Given the description of an element on the screen output the (x, y) to click on. 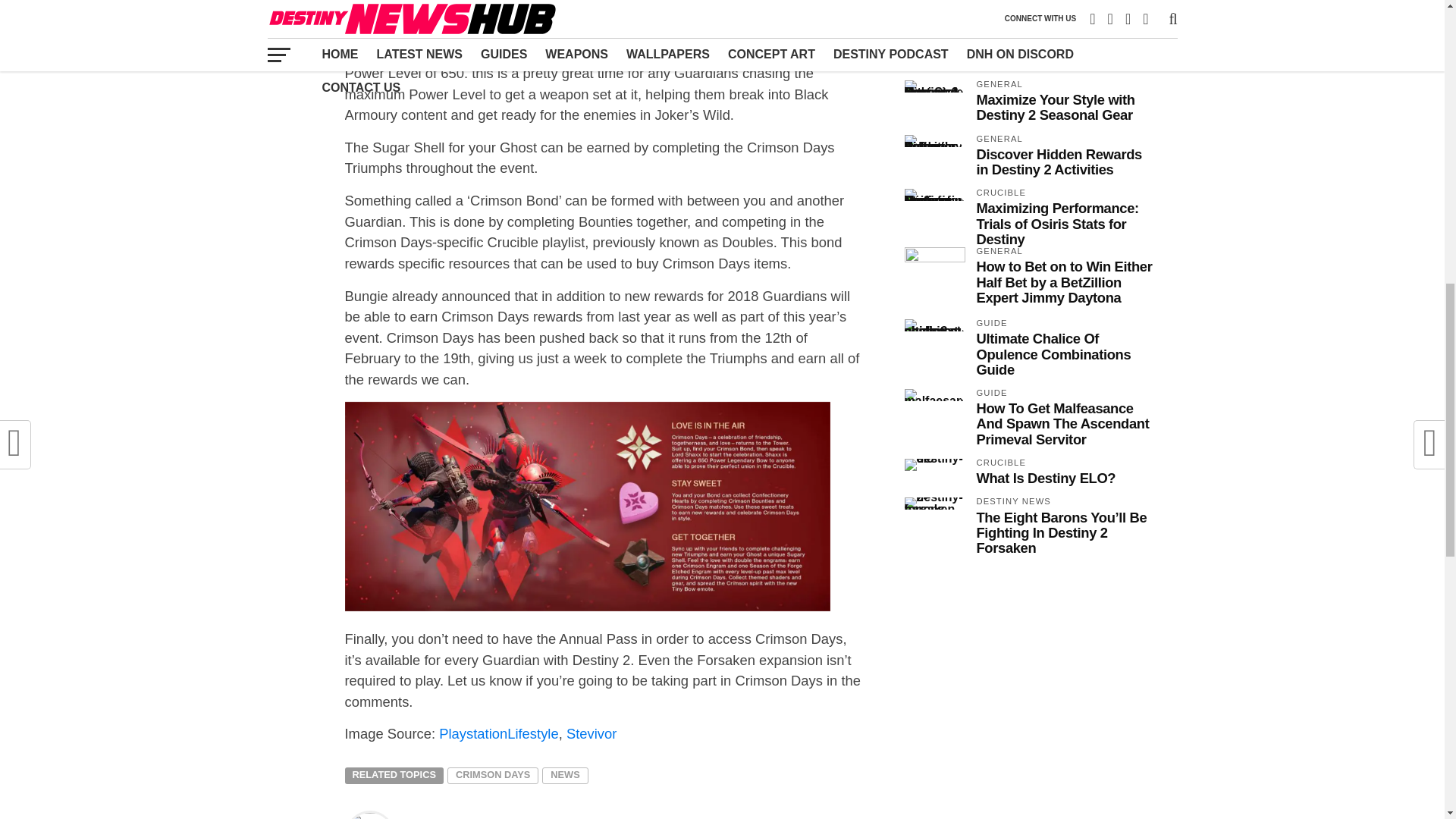
Posts by Jamie Moorcroft-Sharp (477, 817)
